Given the description of an element on the screen output the (x, y) to click on. 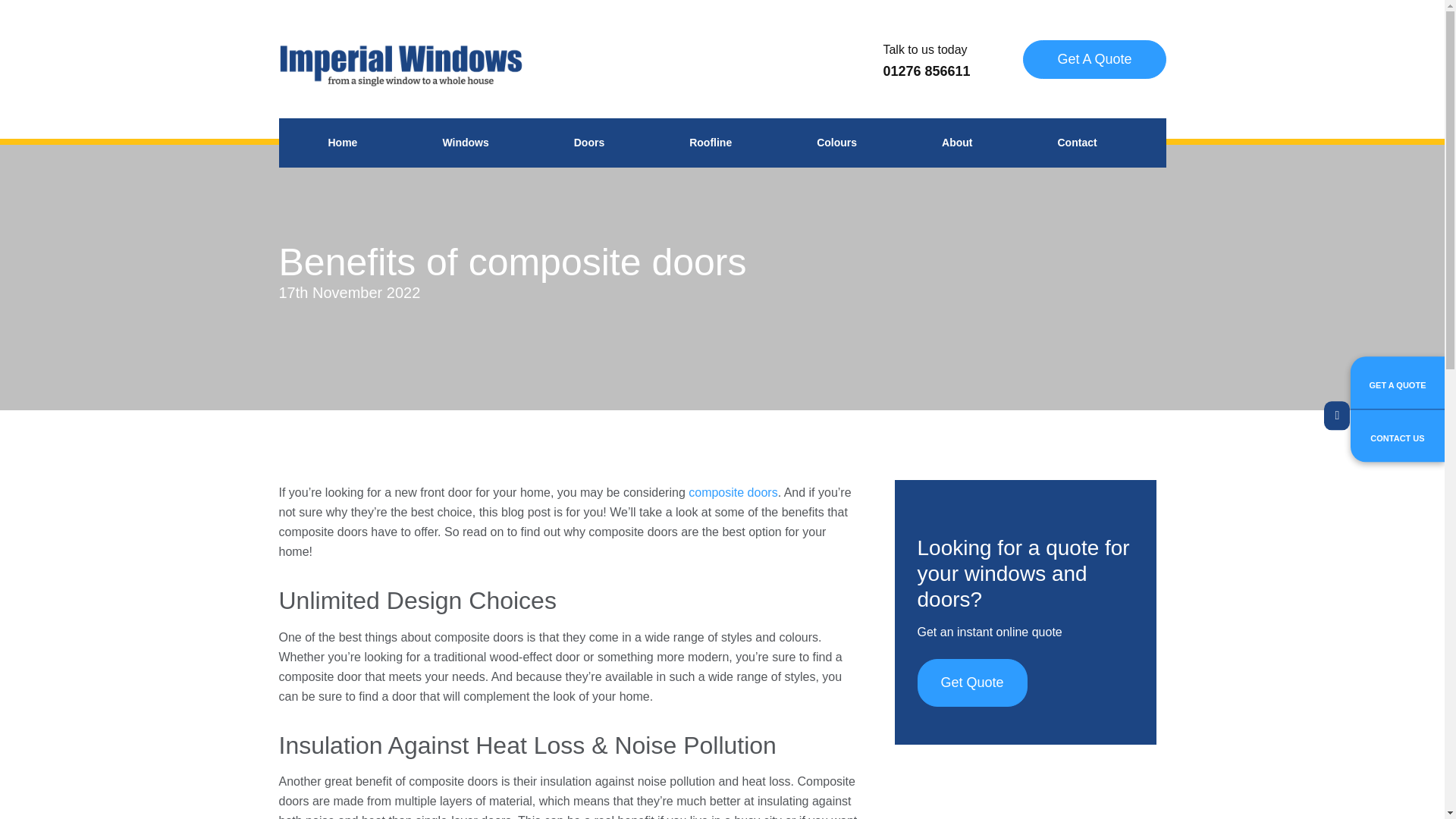
Roofline (897, 76)
About (710, 142)
Home (956, 142)
Doors (342, 142)
Windows (588, 142)
Colours (464, 142)
Get A Quote (836, 142)
